Given the description of an element on the screen output the (x, y) to click on. 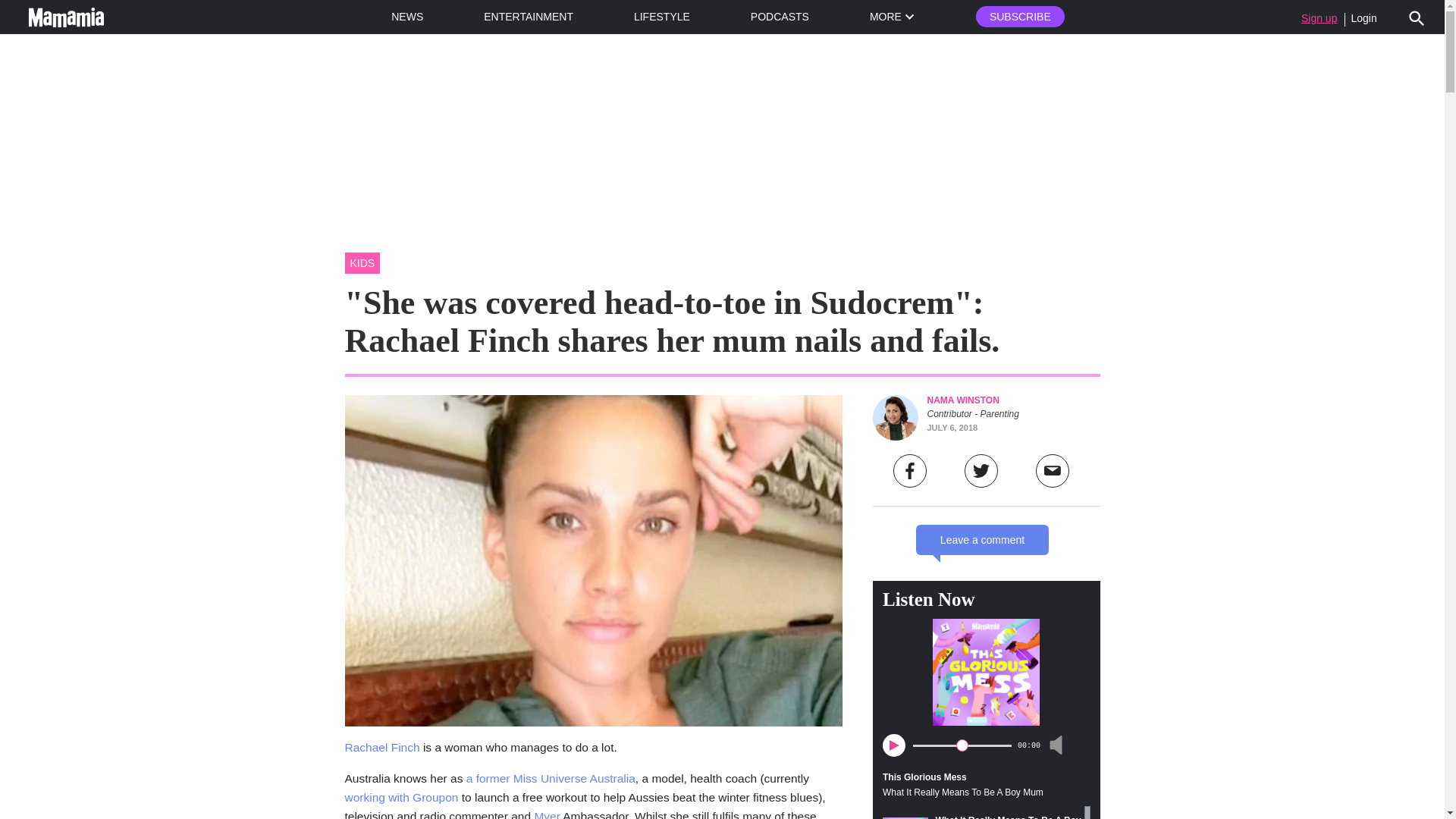
NEWS (407, 16)
547.5 (961, 745)
Search (1416, 17)
PODCASTS (780, 16)
LIFESTYLE (661, 16)
ENTERTAINMENT (528, 16)
MORE (892, 17)
